Given the description of an element on the screen output the (x, y) to click on. 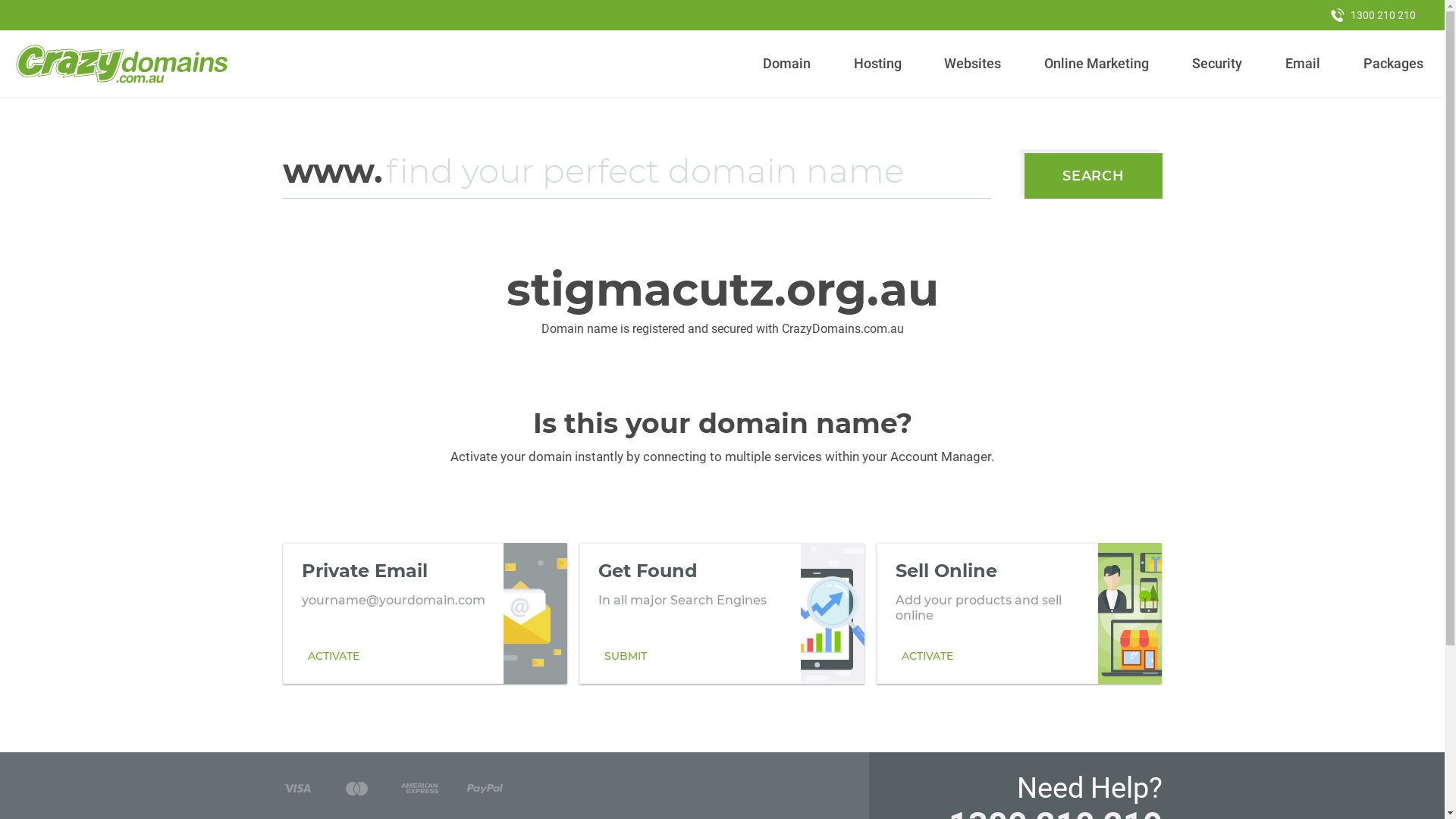
Security Element type: text (1217, 63)
Private Email
yourname@yourdomain.com
ACTIVATE Element type: text (424, 613)
Packages Element type: text (1392, 63)
Sell Online
Add your products and sell online
ACTIVATE Element type: text (1018, 613)
Email Element type: text (1302, 63)
Get Found
In all major Search Engines
SUBMIT Element type: text (721, 613)
1300 210 210 Element type: text (1373, 15)
Websites Element type: text (972, 63)
SEARCH Element type: text (1092, 175)
Hosting Element type: text (877, 63)
Online Marketing Element type: text (1096, 63)
Domain Element type: text (786, 63)
